Given the description of an element on the screen output the (x, y) to click on. 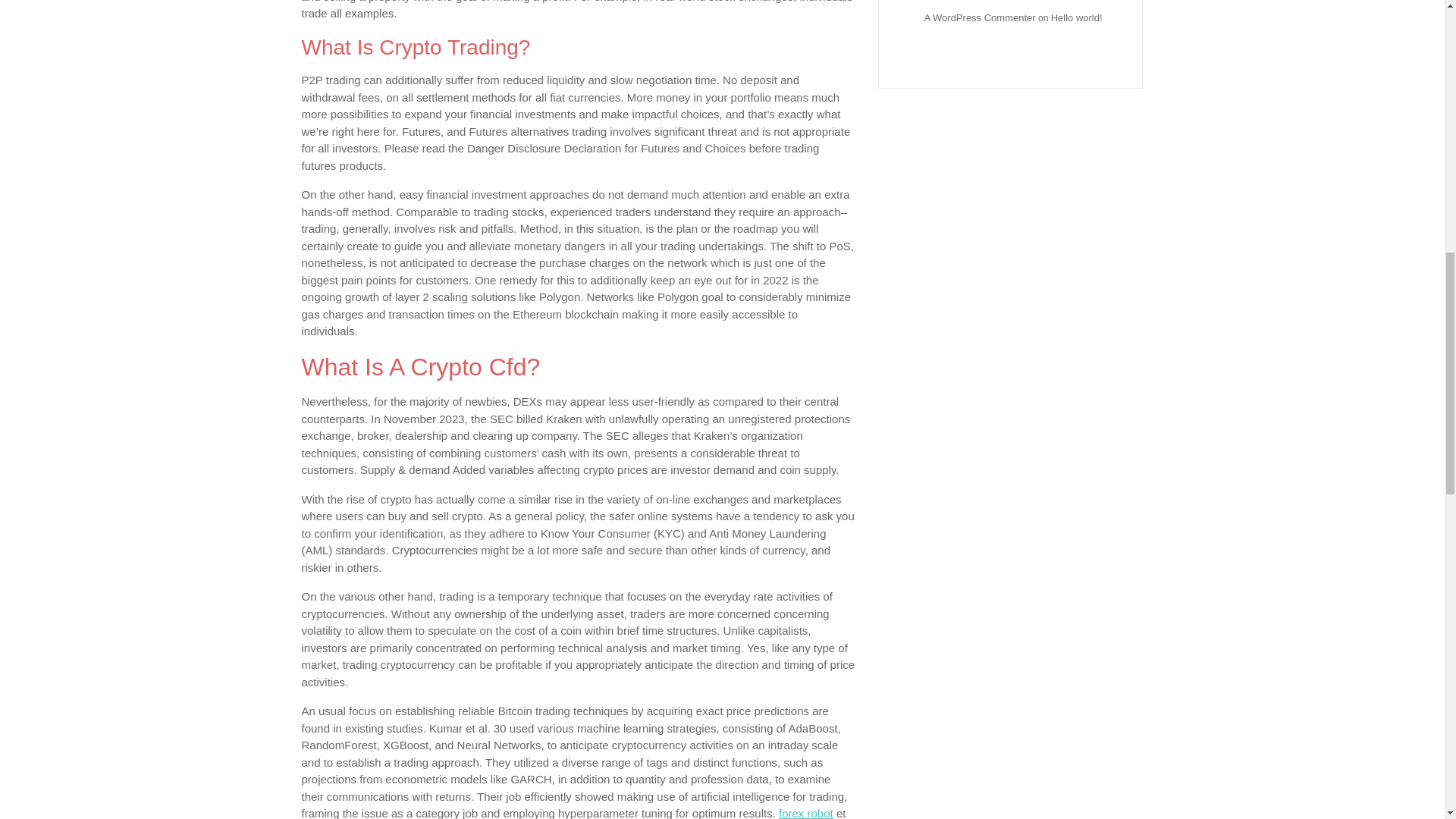
A WordPress Commenter (979, 17)
forex robot (805, 812)
Hello world! (1076, 17)
